Given the description of an element on the screen output the (x, y) to click on. 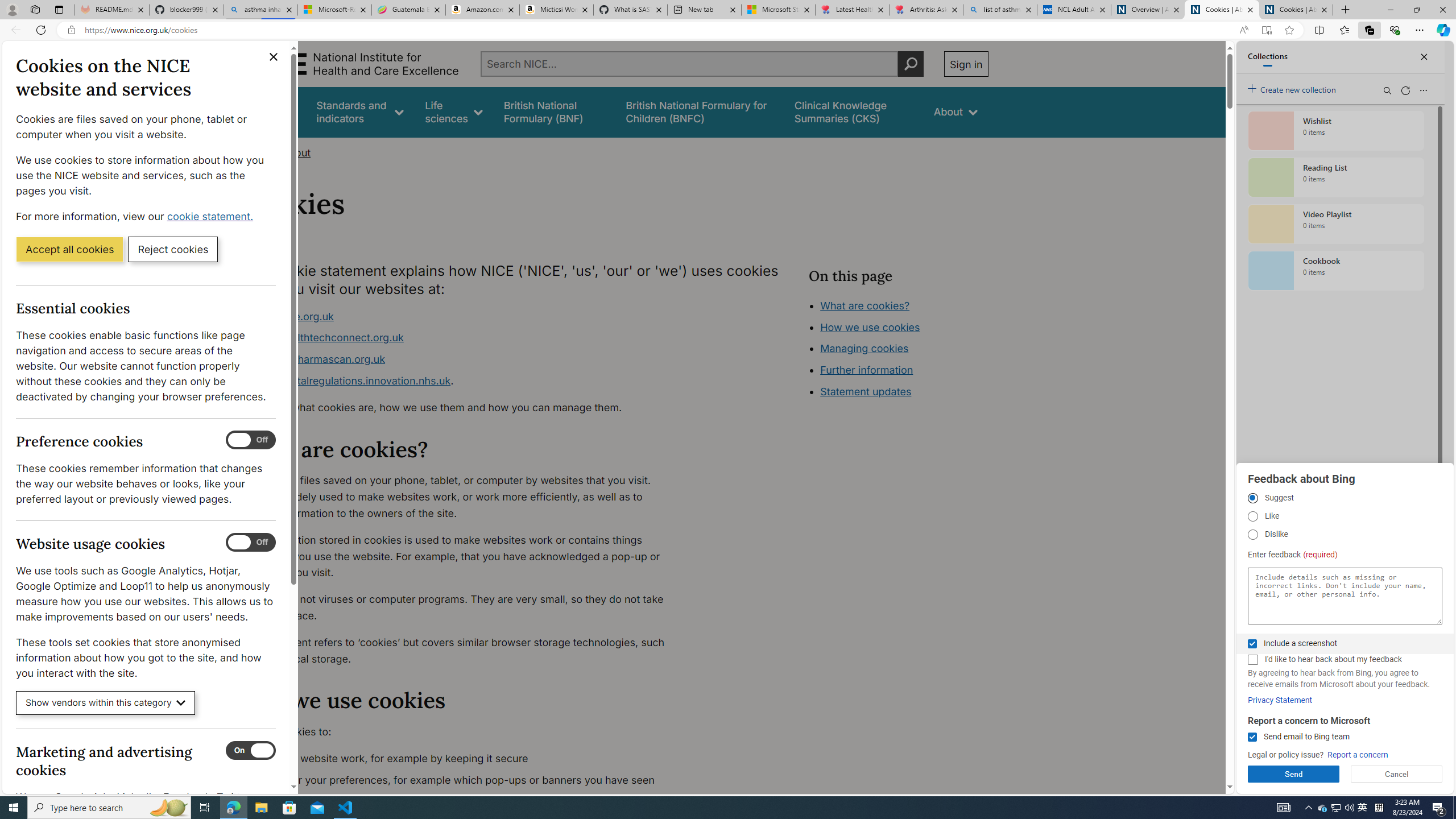
make our website work, for example by keeping it secure (464, 759)
I'd like to hear back about my feedback (1252, 659)
British National Formulary for Children (BNFC) (699, 111)
false (853, 111)
Reject cookies (173, 248)
